Given the description of an element on the screen output the (x, y) to click on. 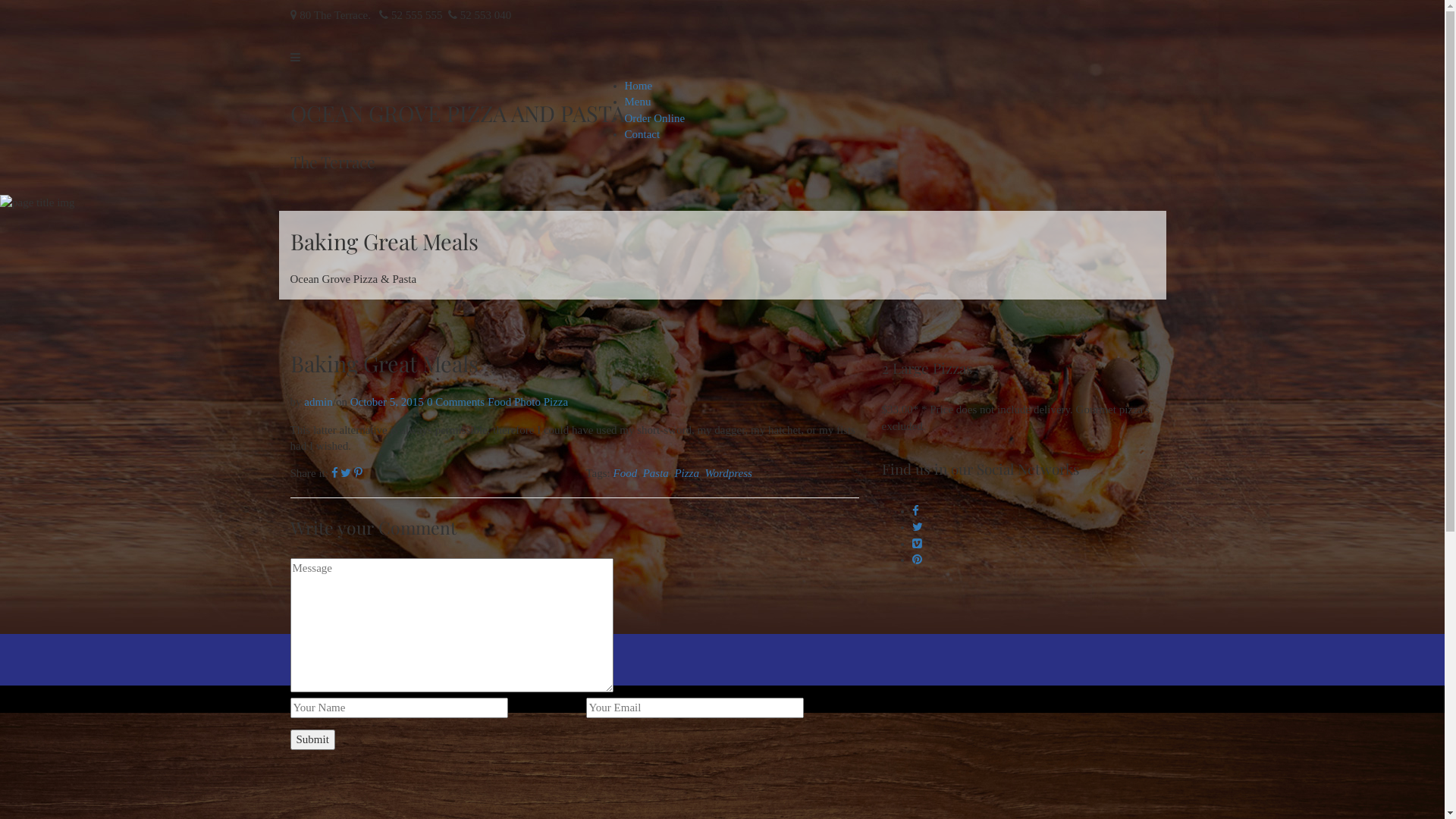
Pizza Element type: text (555, 401)
Order Online Element type: text (654, 118)
Photo Element type: text (527, 401)
Submit Element type: text (311, 739)
admin Element type: text (318, 401)
0 Comments Element type: text (455, 401)
Wordpress Element type: text (728, 473)
Contact Element type: text (642, 134)
Pasta Element type: text (655, 473)
Food Element type: text (499, 401)
Menu Element type: text (637, 101)
October 5, 2015 Element type: text (386, 401)
Home Element type: text (638, 85)
Food Element type: text (625, 473)
Pizza Element type: text (686, 473)
